Given the description of an element on the screen output the (x, y) to click on. 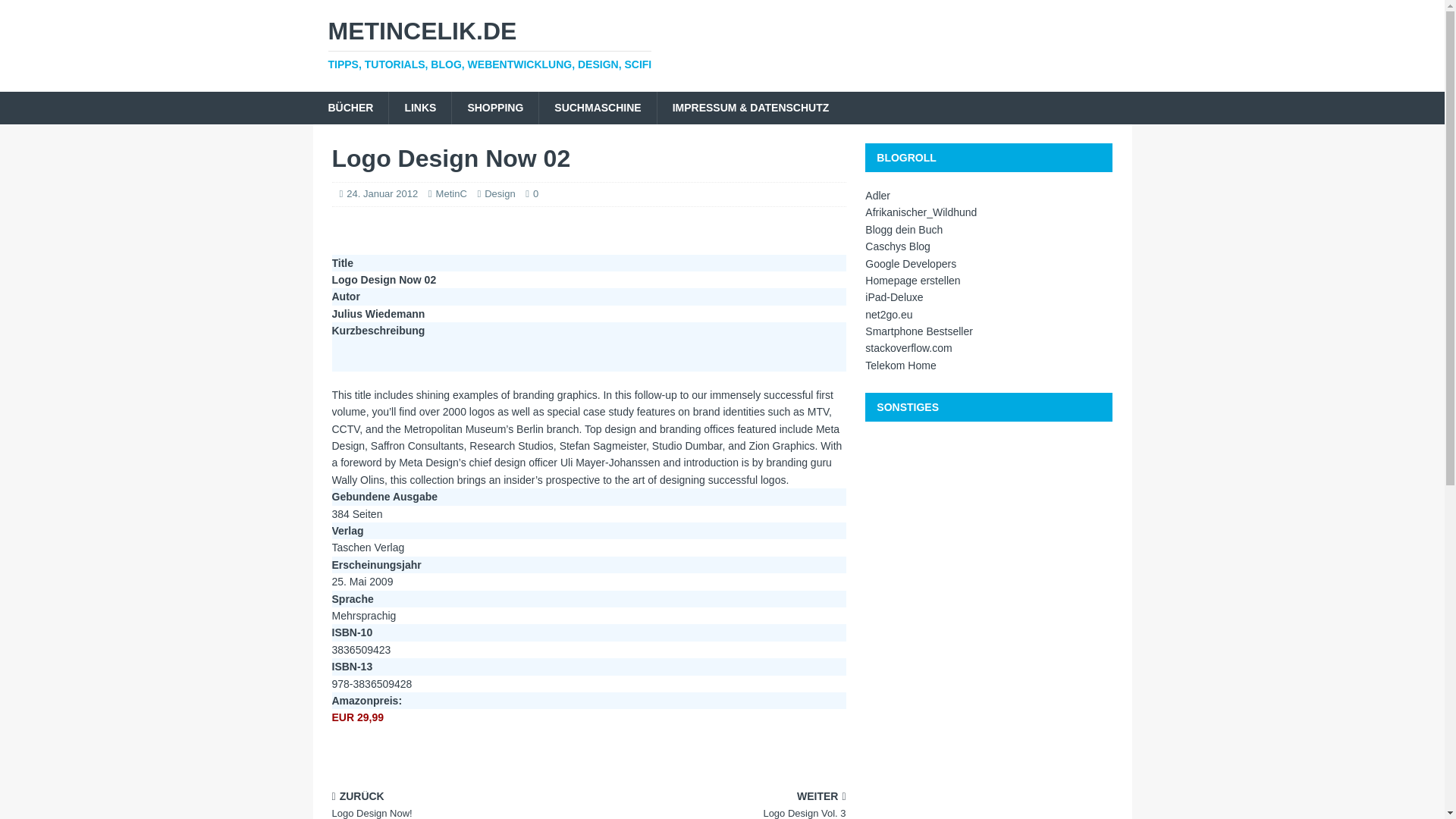
LINKS (419, 107)
Blogg dein Buch (903, 229)
Telekom Home Shop (900, 365)
Adler (876, 195)
24. Januar 2012 (381, 193)
SHOPPING (494, 107)
MetinCelik.de (721, 44)
SUCHMASCHINE (597, 107)
Design (499, 193)
